Given the description of an element on the screen output the (x, y) to click on. 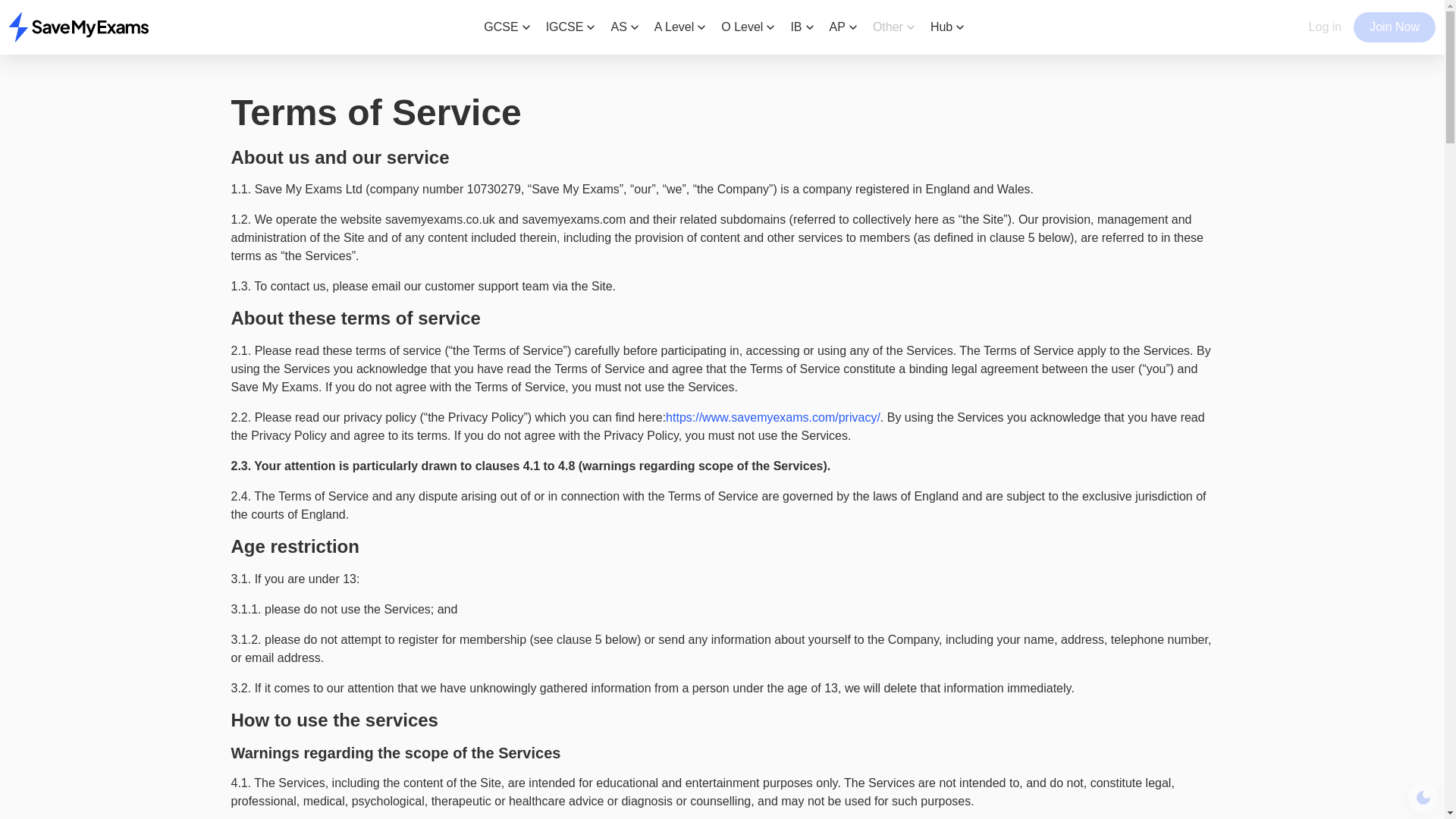
GCSE (507, 27)
Switch to dark mode (1422, 797)
Home (78, 27)
